Given the description of an element on the screen output the (x, y) to click on. 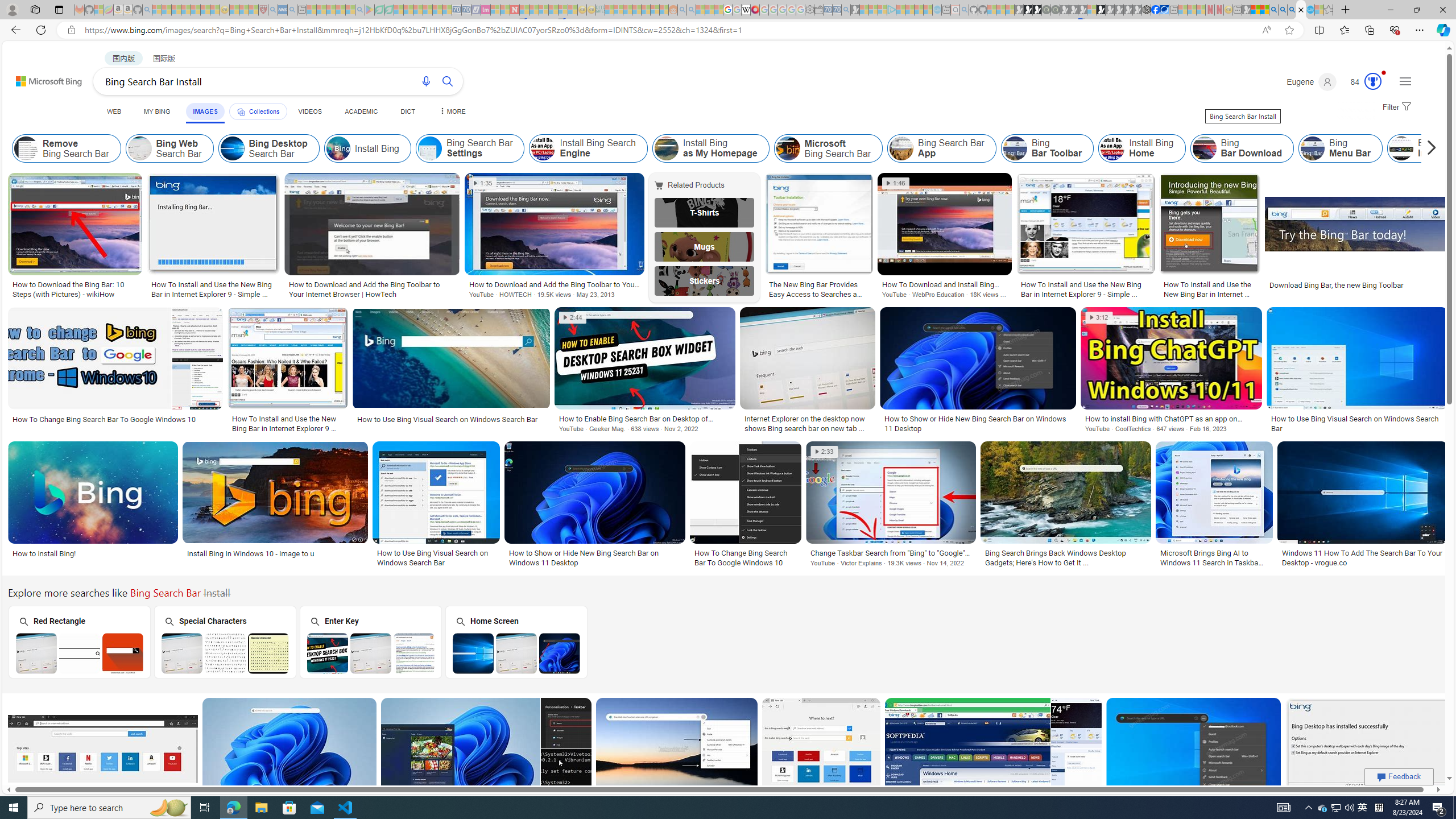
Class: b_pri_nav_svg (240, 112)
Microsoft Bing Search Bar (788, 148)
2009 Bing officially replaced Live Search on June 3 - Search (1283, 9)
Terms of Use Agreement - Sleeping (378, 9)
Bing Search Bar Enter Key (370, 652)
ACADEMIC (360, 111)
Mugs (704, 246)
Local - MSN - Sleeping (253, 9)
